Given the description of an element on the screen output the (x, y) to click on. 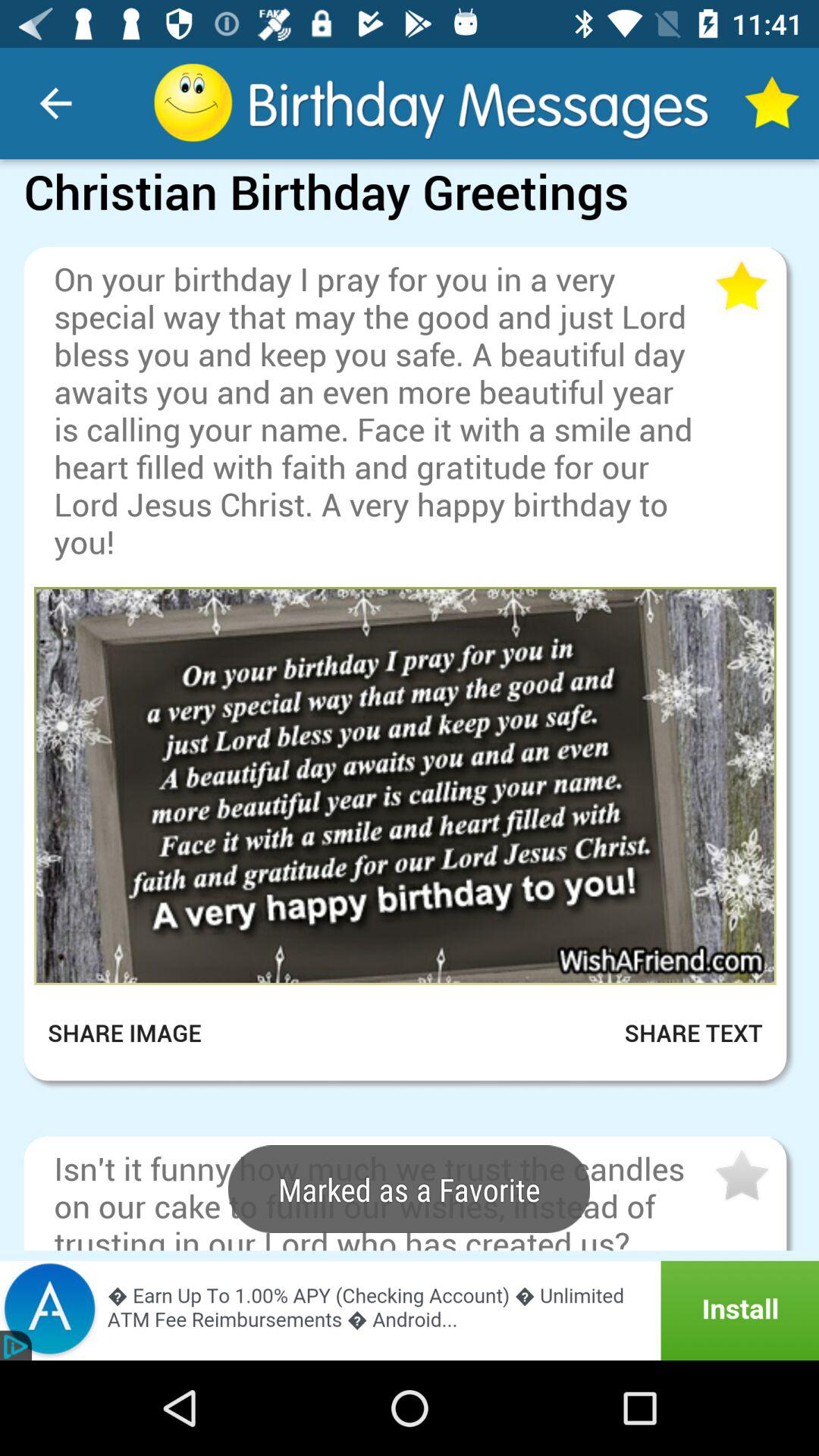
click the icon above christian birthday greetings (55, 103)
